Given the description of an element on the screen output the (x, y) to click on. 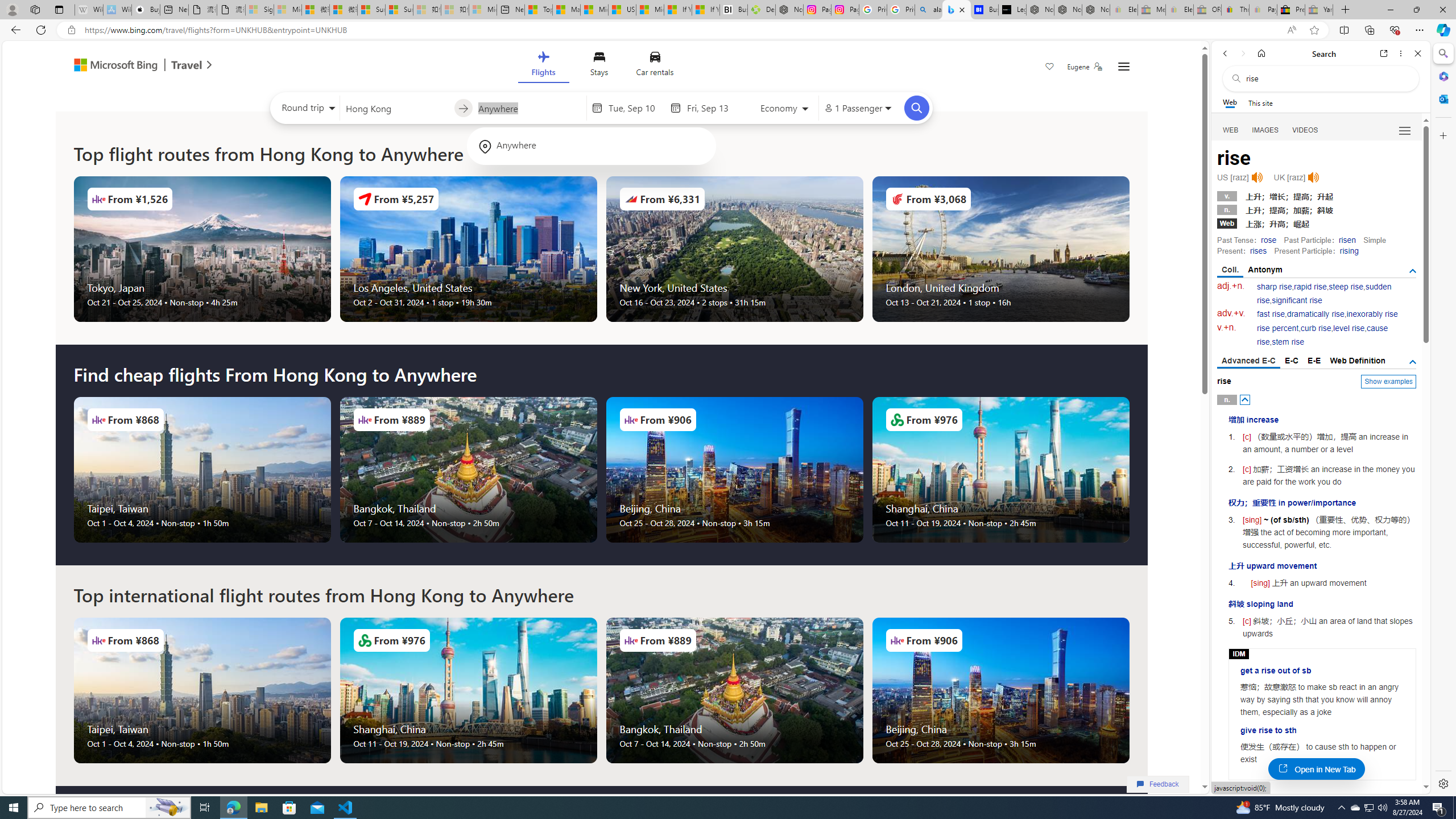
Search the web (1326, 78)
Class: trvl-hub-header nofilter (601, 65)
AutomationID: posbtn_0 (1245, 399)
fast rise (1270, 313)
risen (1347, 239)
Search Filter, IMAGES (1265, 129)
rising (1348, 250)
Search Filter, VIDEOS (1304, 129)
